Given the description of an element on the screen output the (x, y) to click on. 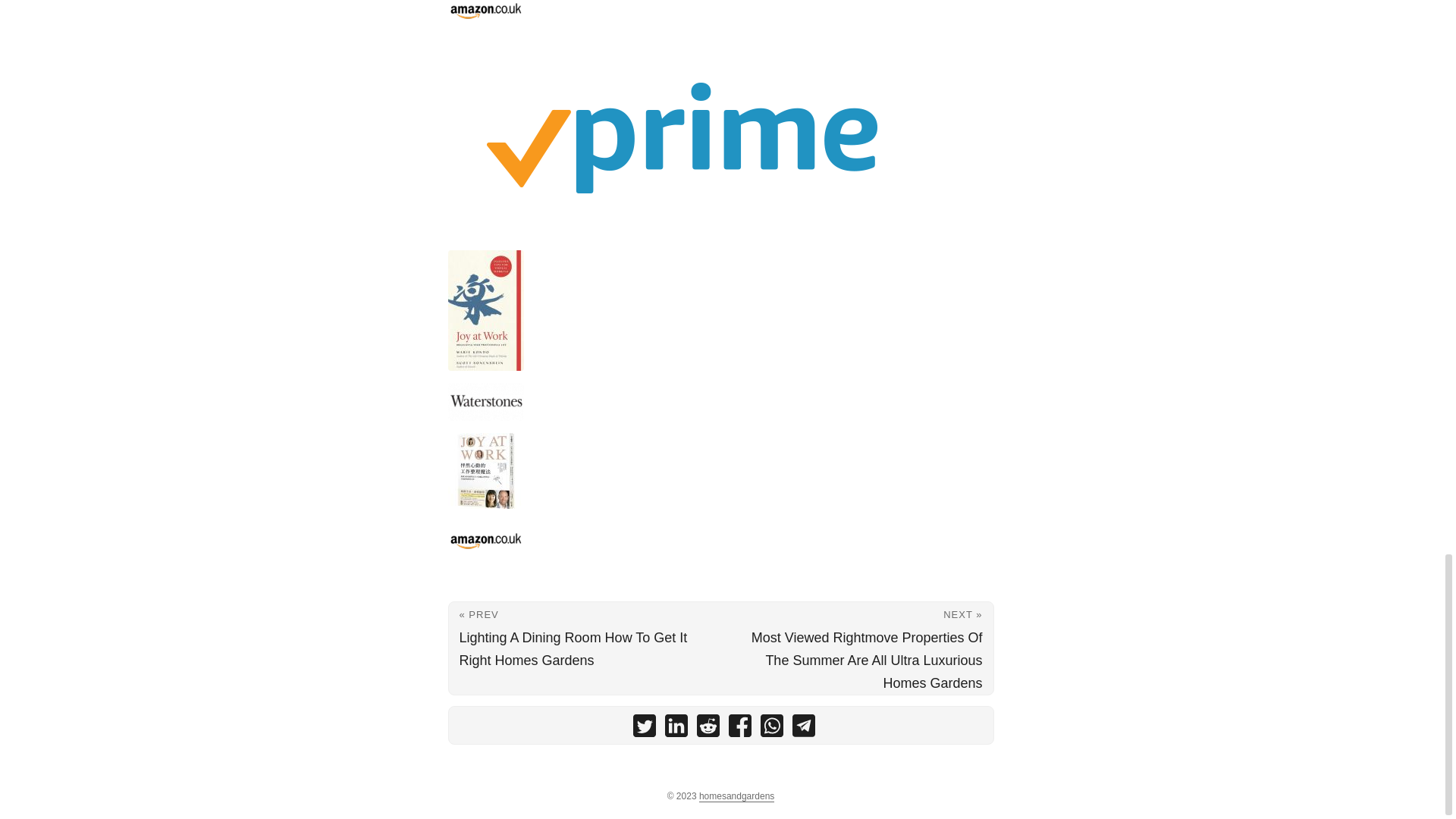
homesandgardens (736, 796)
